Given the description of an element on the screen output the (x, y) to click on. 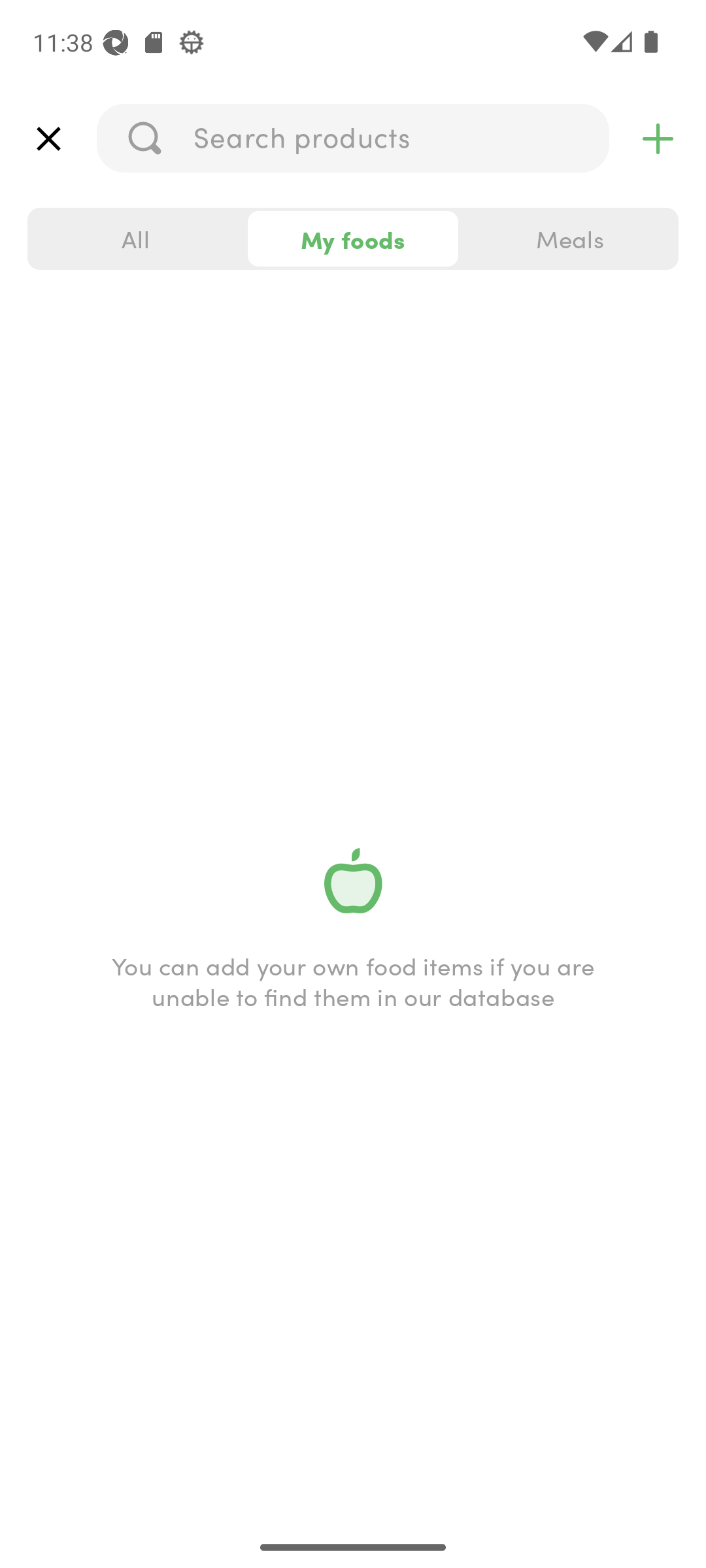
top_left_action (48, 138)
top_right_action (658, 138)
All (136, 238)
Meals (569, 238)
